Given the description of an element on the screen output the (x, y) to click on. 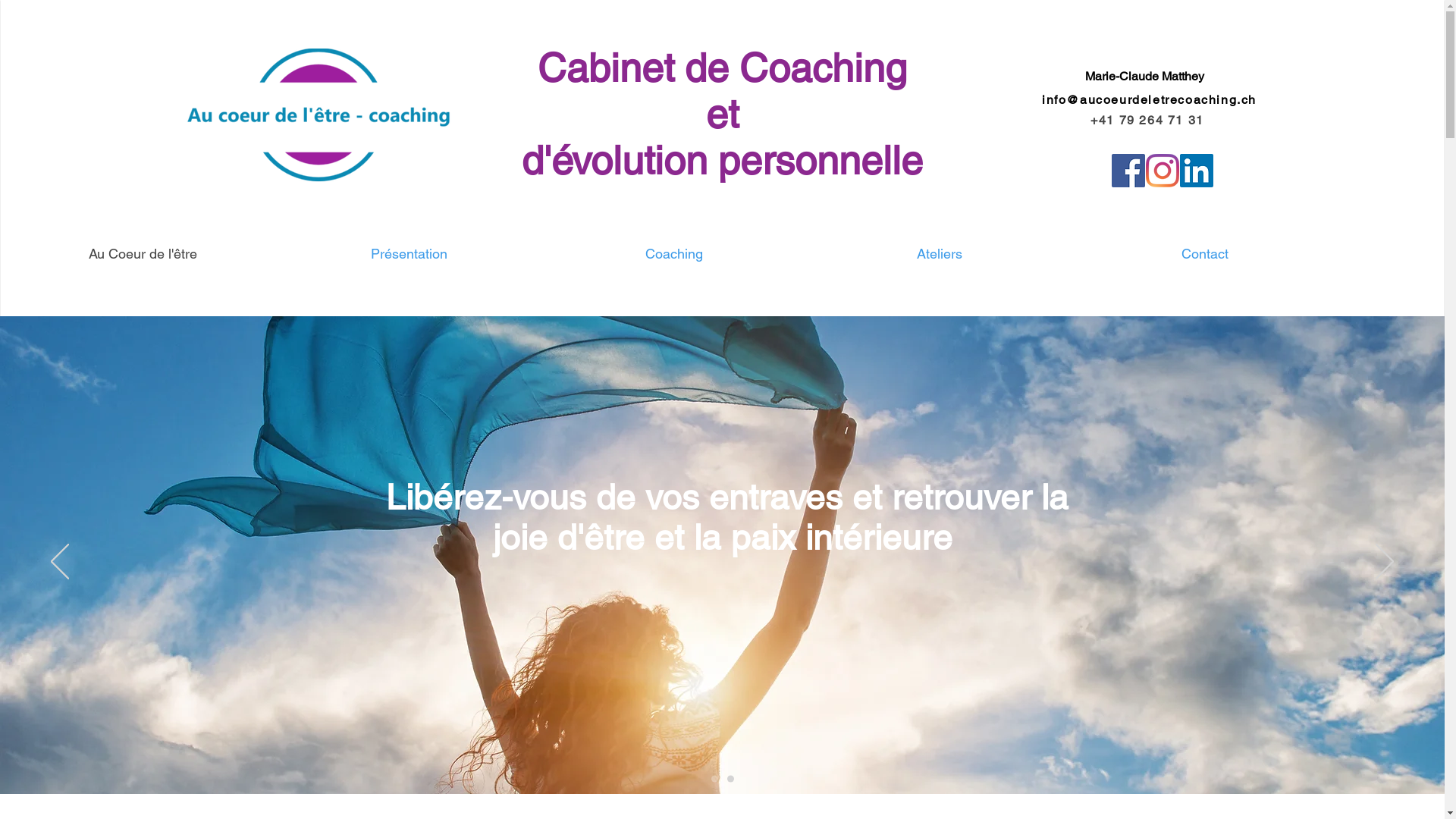
Contact Element type: text (1204, 253)
Coaching Element type: text (673, 253)
info@aucoeurdeletrecoaching.ch Element type: text (1148, 99)
Ateliers Element type: text (939, 253)
